Given the description of an element on the screen output the (x, y) to click on. 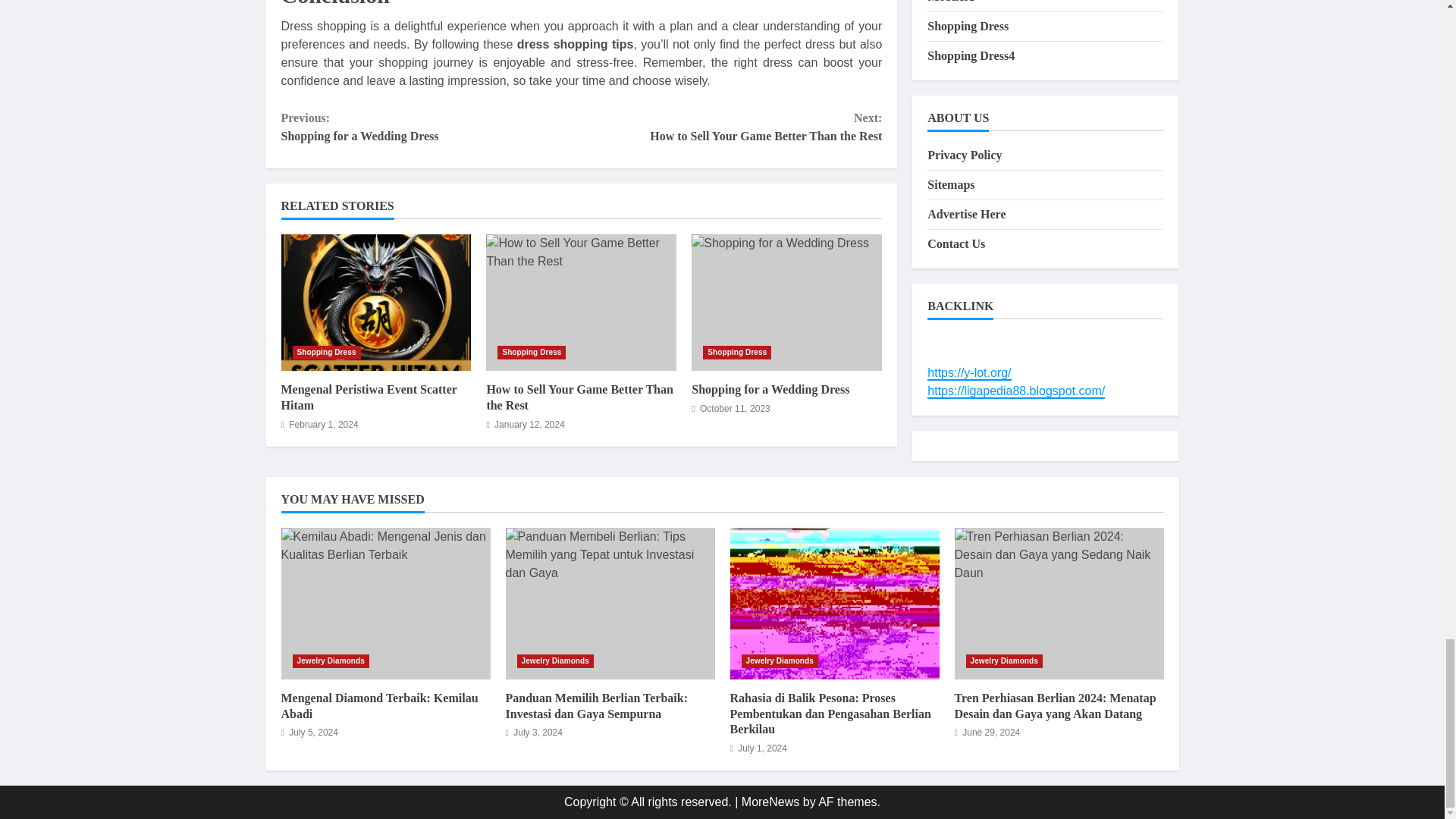
How to Sell Your Game Better Than the Rest (581, 302)
Shopping Dress (531, 352)
Apa Itu Event scatter hitam (375, 302)
Shopping for a Wedding Dress (786, 302)
Kemilau Abadi: Mengenal Jenis dan Kualitas Berlian Terbaik (385, 603)
Shopping for a Wedding Dress (769, 389)
How to Sell Your Game Better Than the Rest (579, 397)
Shopping for a Wedding Dress (731, 126)
Mengenal Peristiwa Event Scatter Hitam (786, 302)
Mengenal Peristiwa Event Scatter Hitam (369, 397)
How to Sell Your Game Better Than the Rest (375, 302)
